Given the description of an element on the screen output the (x, y) to click on. 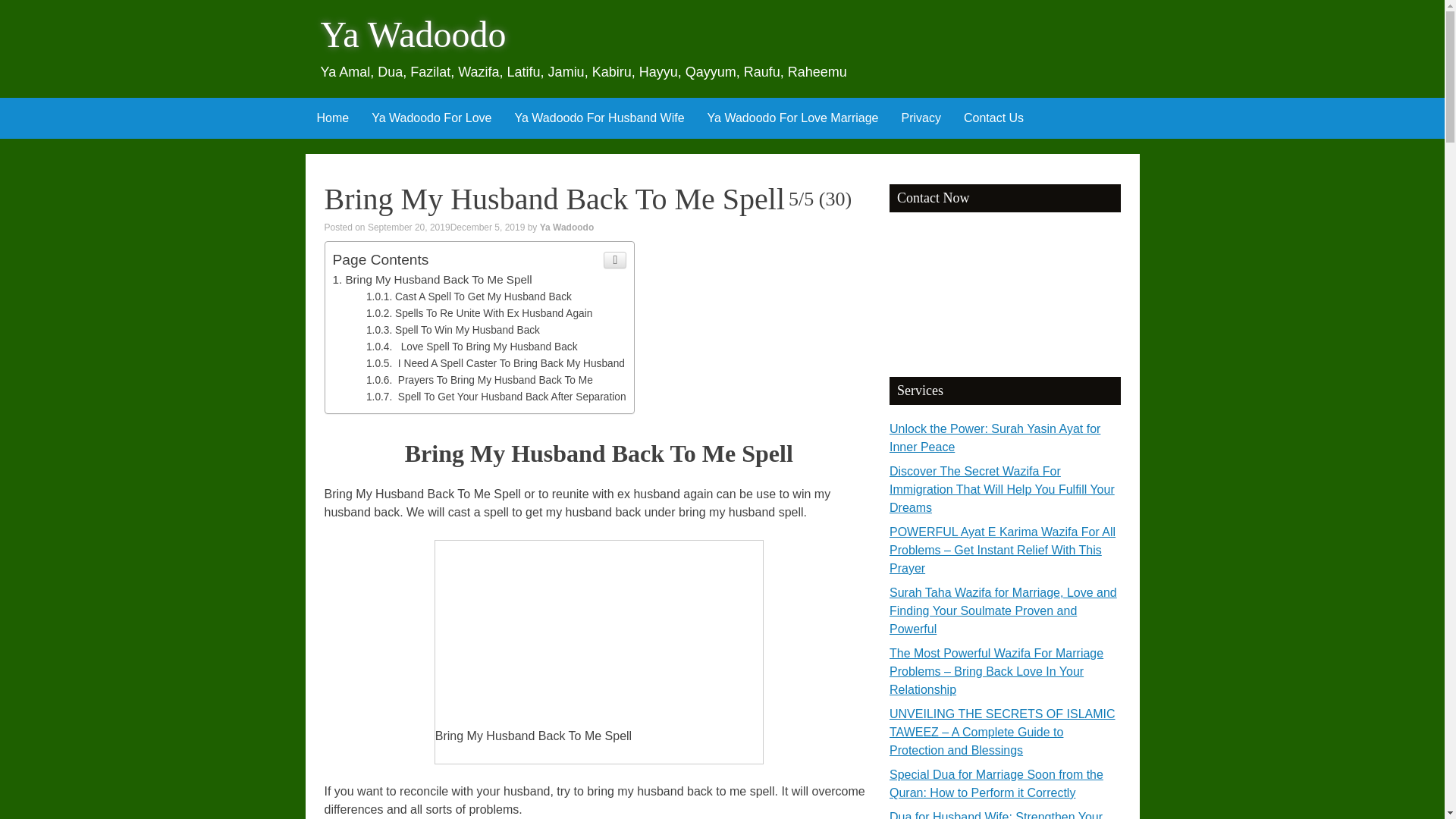
  Love Spell To Bring My Husband Back (472, 346)
 Prayers To Bring My Husband Back To Me (479, 379)
Bring My Husband Back To Me Spell (431, 278)
Ya Wadoodo For Love Marriage (792, 117)
Cast A Spell To Get My Husband Back (469, 296)
Ya Wadoodo (412, 34)
Spell To Win My Husband Back (453, 329)
Ya Wadoodo For Husband Wife (599, 117)
Unlock the Power: Surah Yasin Ayat for Inner Peace (994, 437)
Ya Wadoodo (567, 226)
Spells To Re Unite With Ex Husband Again (479, 313)
Bring My Husband Back To Me Spell (596, 630)
Cast A Spell To Get My Husband Back (469, 296)
Contact Us (993, 117)
